Given the description of an element on the screen output the (x, y) to click on. 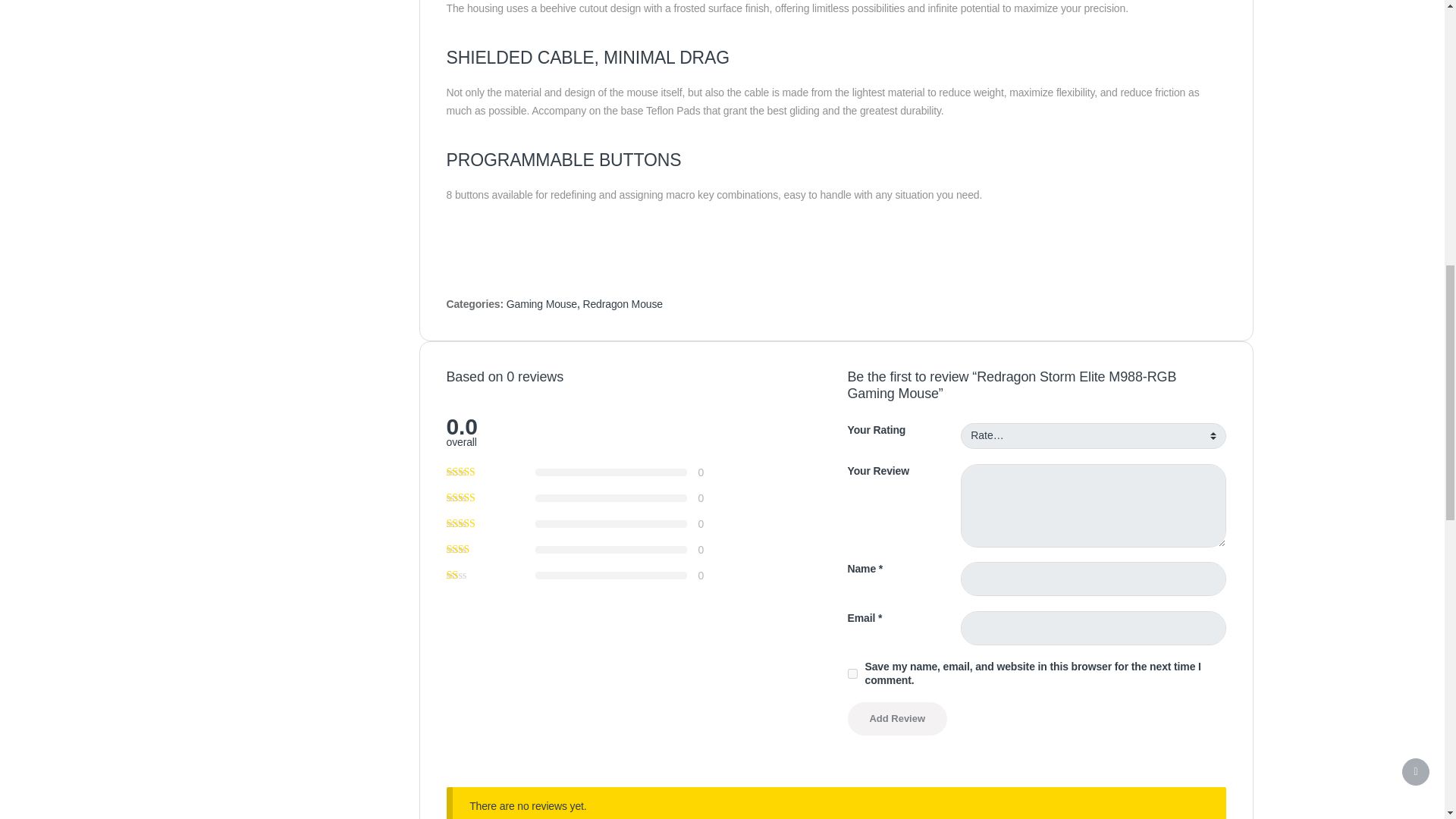
Add Review (897, 718)
yes (852, 673)
